Given the description of an element on the screen output the (x, y) to click on. 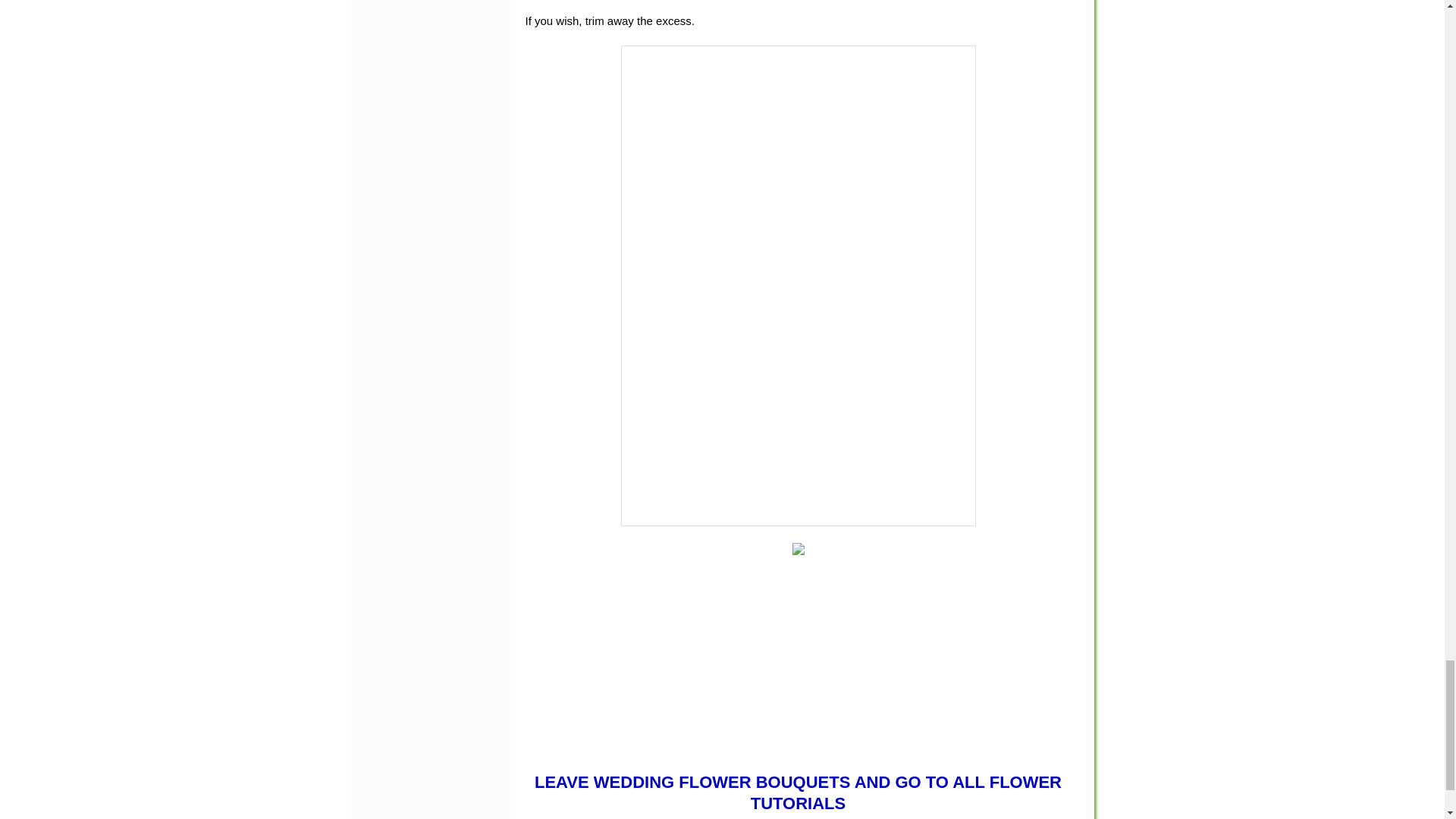
LEAVE WEDDING FLOWER BOUQUETS AND GO TO ALL FLOWER TUTORIALS (797, 793)
